Given the description of an element on the screen output the (x, y) to click on. 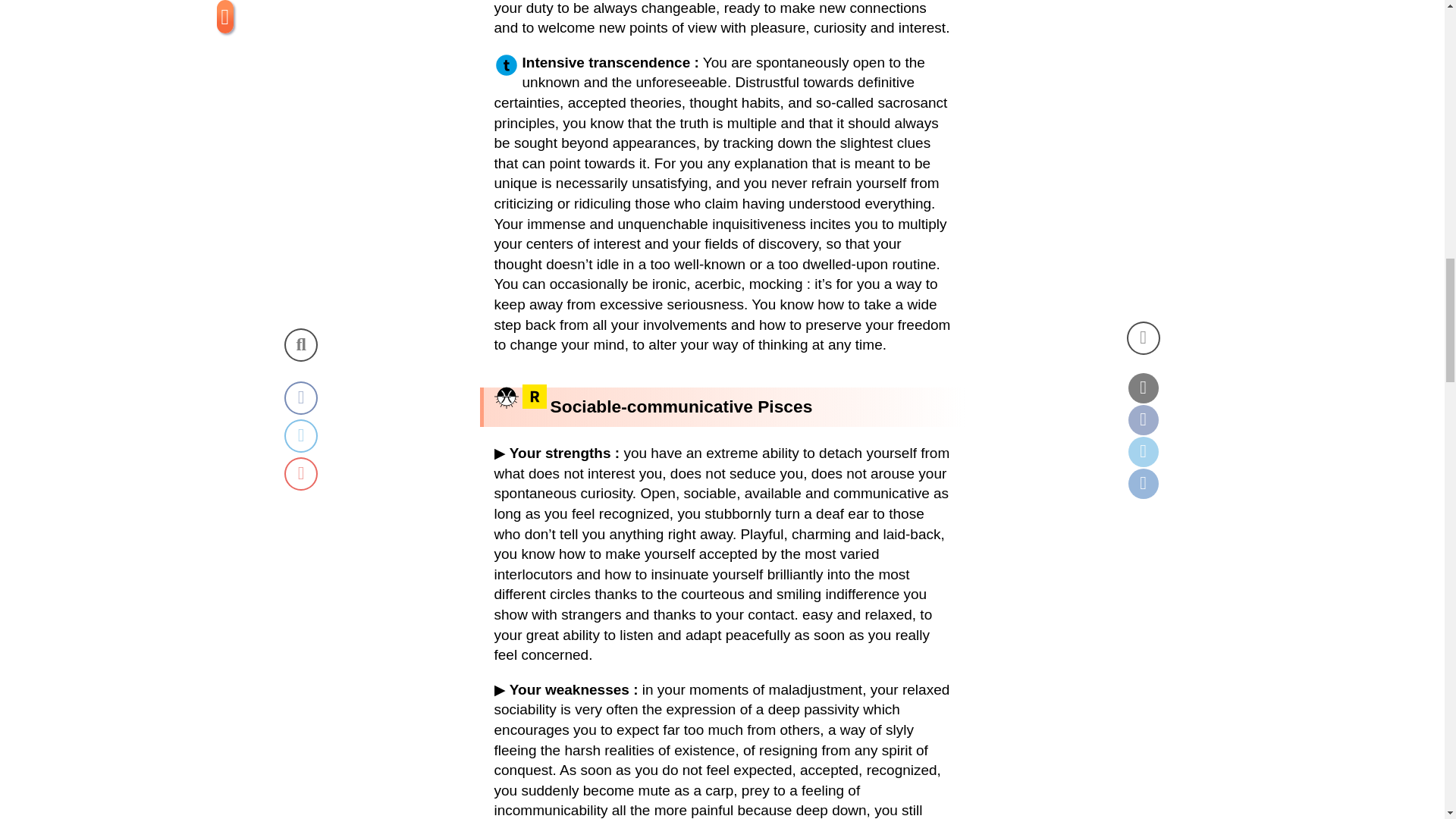
Pisces (506, 396)
